Given the description of an element on the screen output the (x, y) to click on. 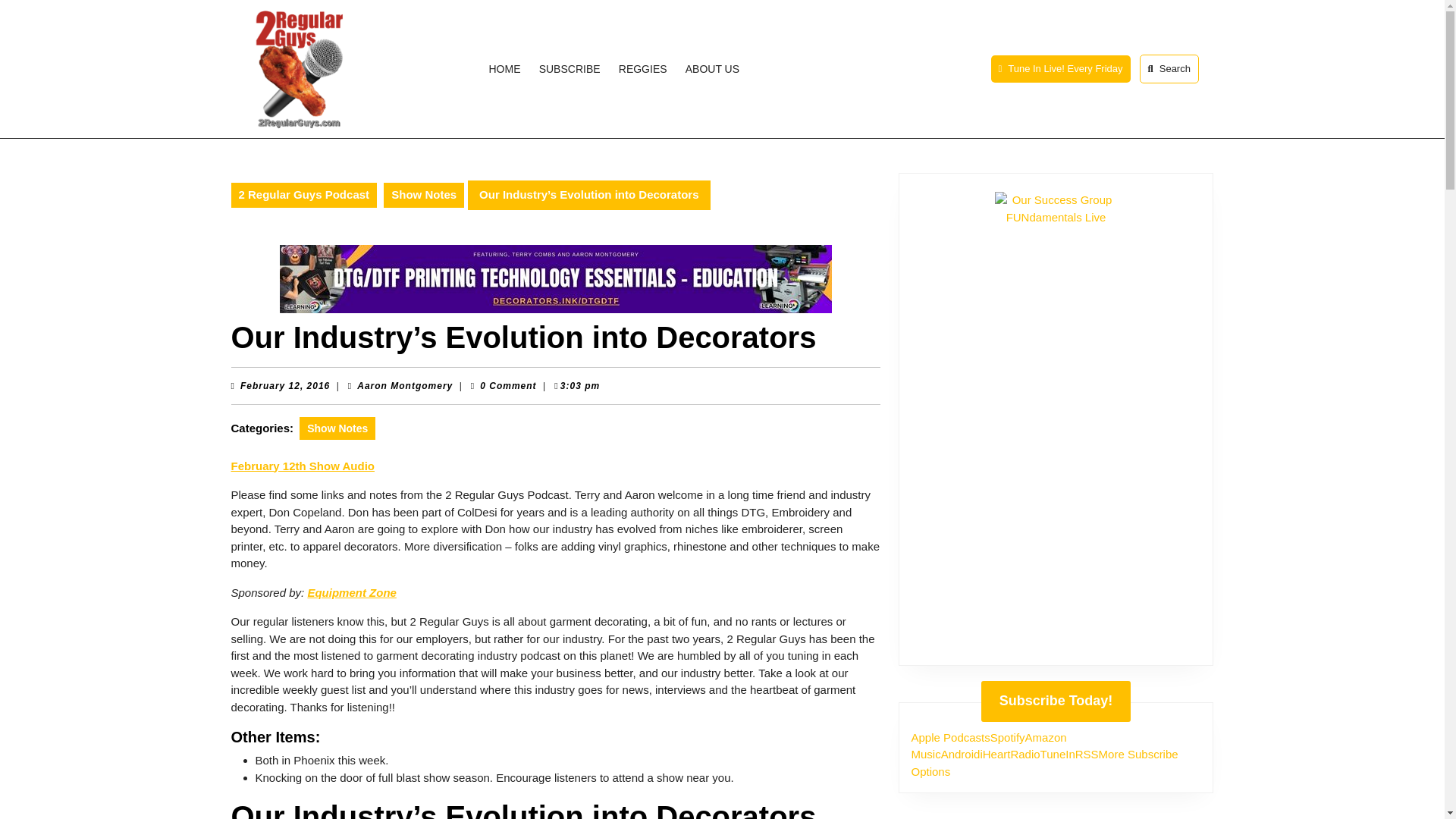
February 12th Show Audio (302, 465)
ABOUT US (712, 68)
Search (1168, 68)
2 Regular Guys Podcast (303, 195)
SUBSCRIBE (568, 68)
Show Notes (424, 195)
REGGIES (642, 68)
Equipment Zone (285, 385)
